Given the description of an element on the screen output the (x, y) to click on. 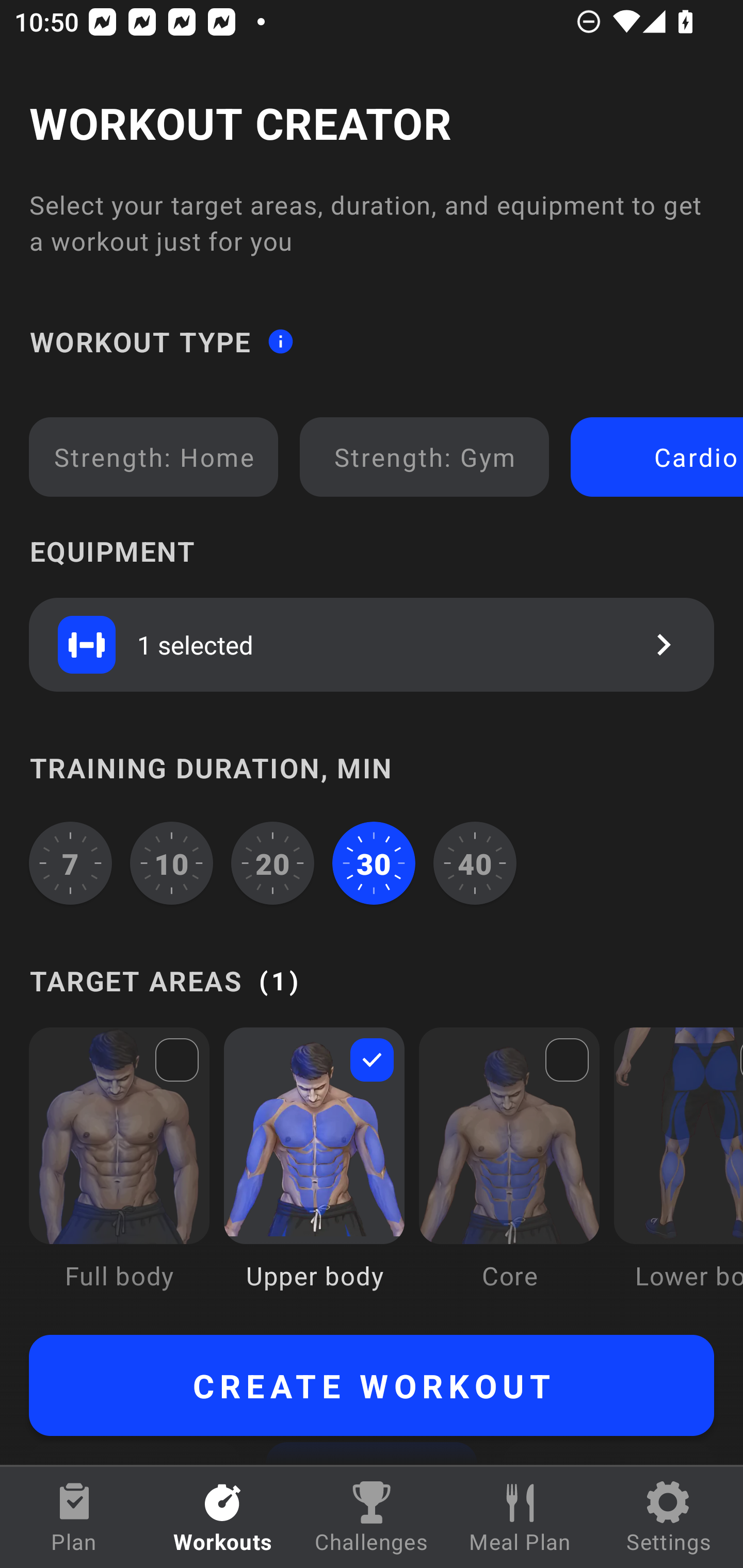
Workout type information button (280, 340)
Strength: Home (153, 457)
Strength: Gym (423, 457)
1 selected (371, 644)
7 (70, 863)
10 (171, 863)
20 (272, 863)
30 (373, 863)
40 (474, 863)
Full body (118, 1172)
Core (509, 1172)
Lower body (678, 1172)
CREATE WORKOUT (371, 1385)
 Plan  (74, 1517)
 Challenges  (371, 1517)
 Meal Plan  (519, 1517)
 Settings  (668, 1517)
